Given the description of an element on the screen output the (x, y) to click on. 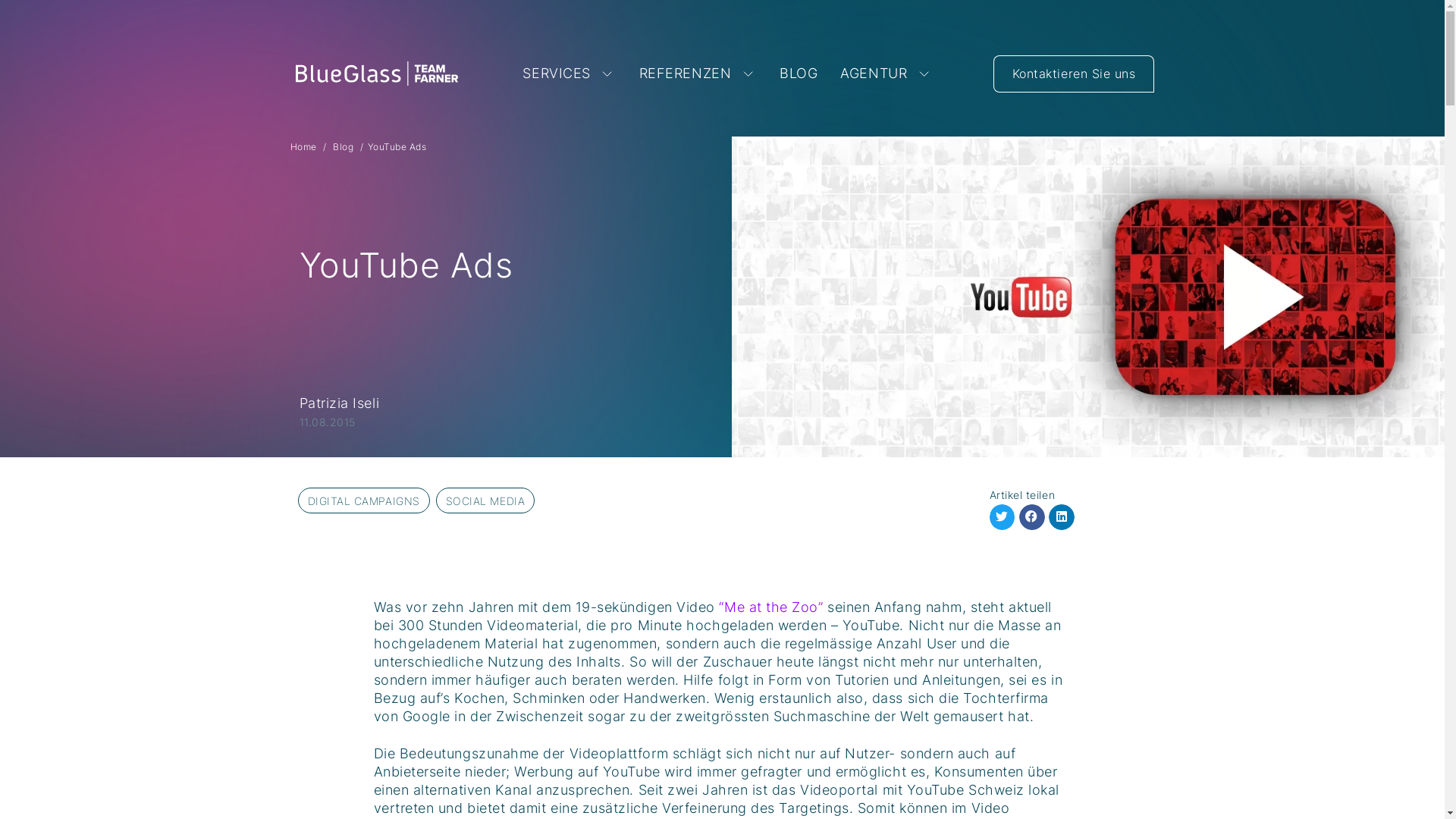
Blog Element type: text (342, 146)
SERVICES Element type: text (568, 73)
BLOG Element type: text (798, 73)
Kontaktieren Sie uns Element type: text (1073, 72)
Home Element type: text (302, 146)
REFERENZEN Element type: text (697, 73)
AGENTUR Element type: text (886, 73)
